Given the description of an element on the screen output the (x, y) to click on. 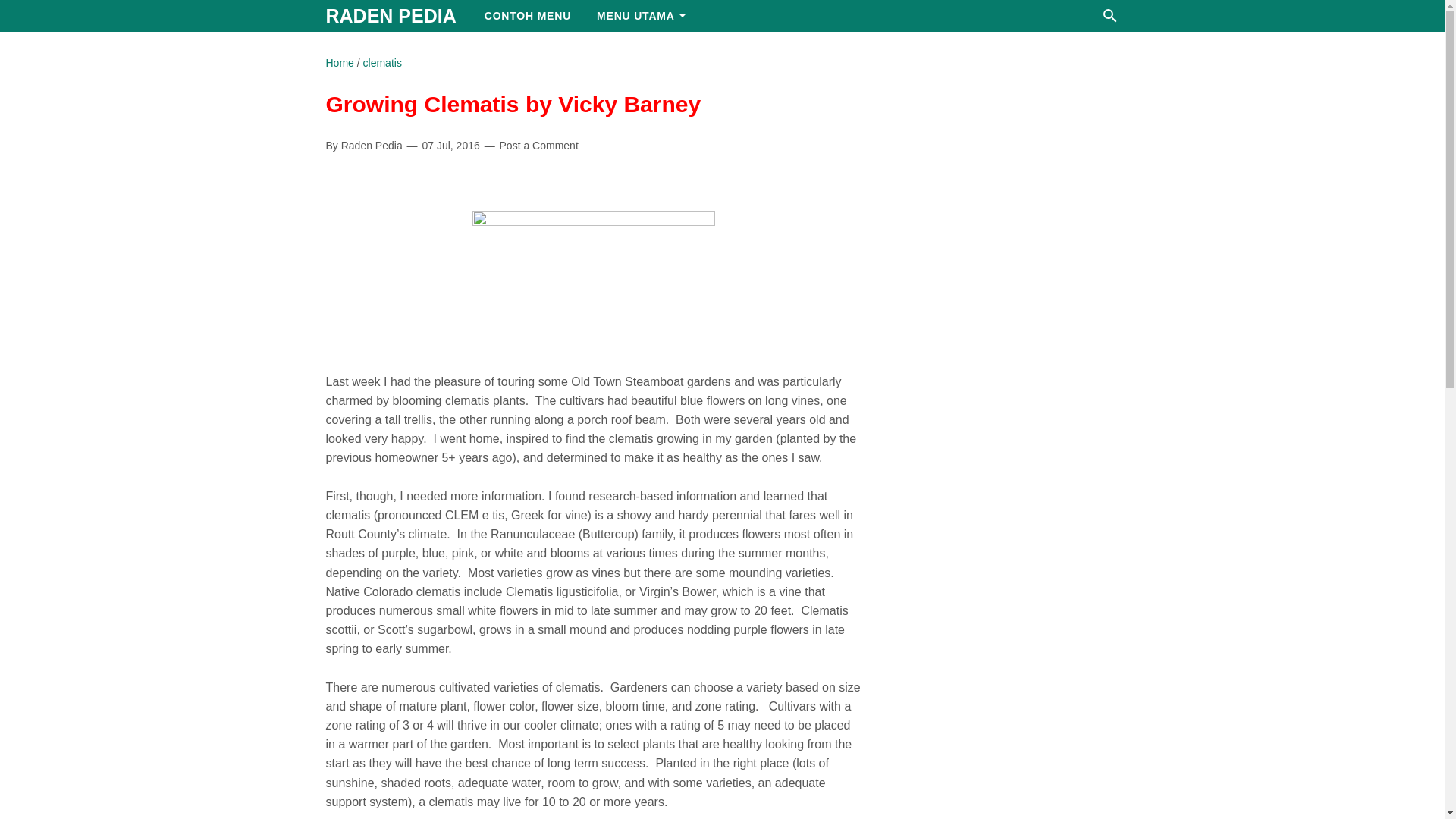
MENU UTAMA (640, 15)
Post a Comment (538, 145)
RADEN PEDIA (391, 15)
Raden Pedia (391, 15)
Home (339, 62)
Search this blog (1109, 15)
clematis (381, 62)
Home (339, 62)
clematis (381, 62)
CONTOH MENU (527, 15)
